Given the description of an element on the screen output the (x, y) to click on. 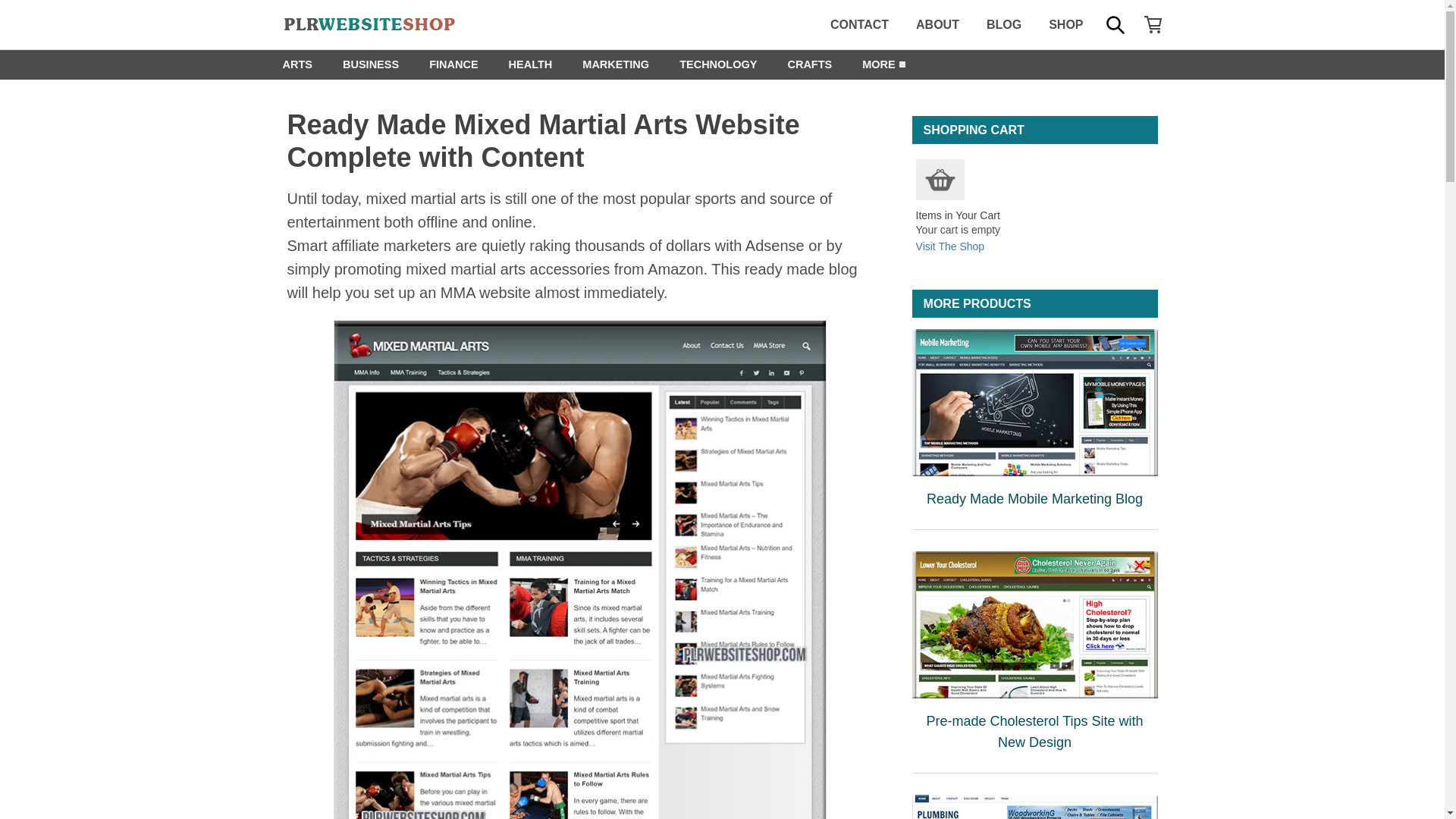
TECHNOLOGY (717, 64)
Shopping Cart (939, 178)
ABOUT (937, 23)
CONTACT (859, 23)
Shopping Cart (939, 178)
BUSINESS (370, 64)
Ready Made Plumbing Website with Special Design (1034, 806)
MARKETING (615, 64)
SEARCH (1114, 23)
